Given the description of an element on the screen output the (x, y) to click on. 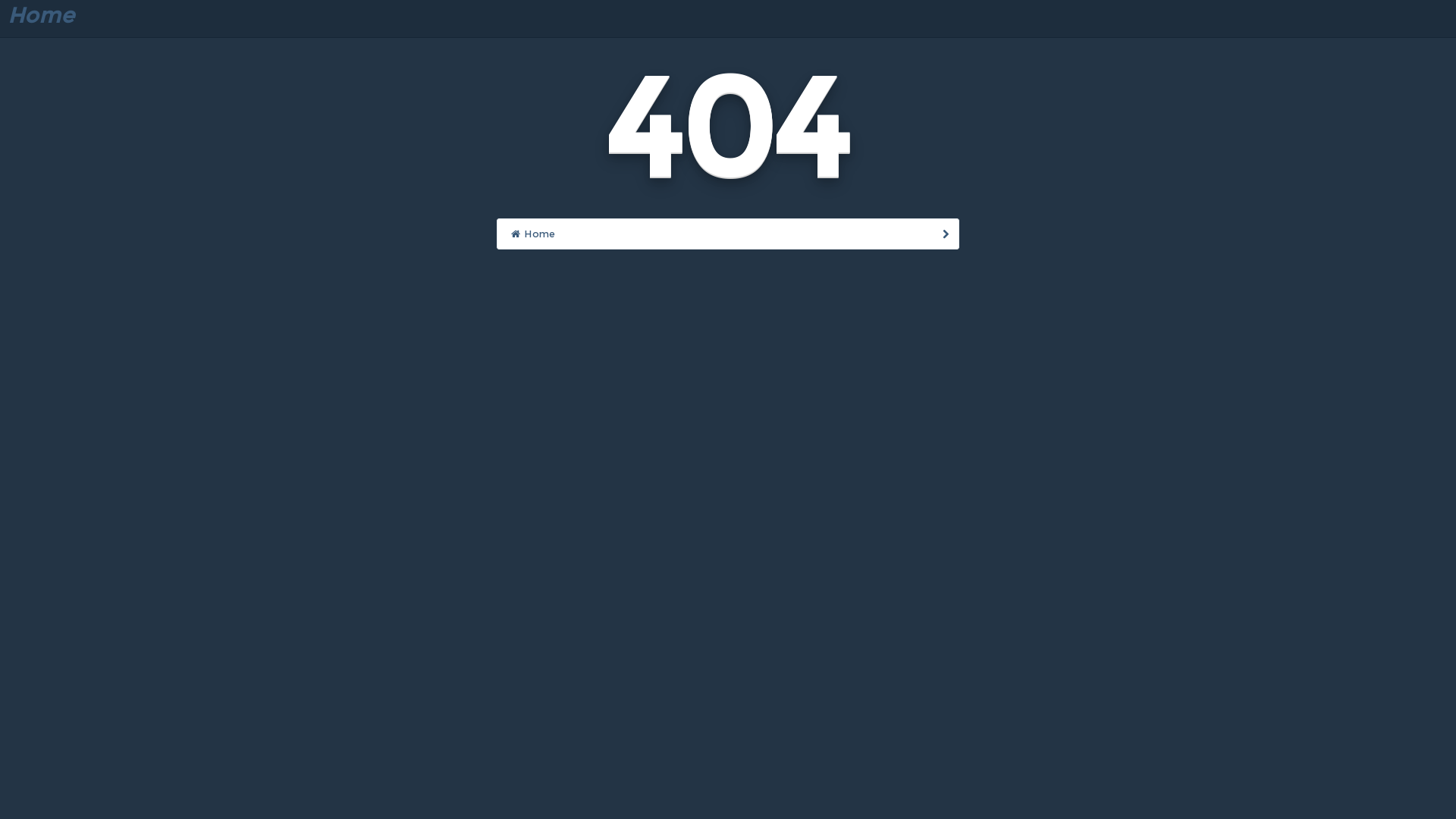
Home Element type: text (43, 15)
Home Element type: text (727, 233)
